Given the description of an element on the screen output the (x, y) to click on. 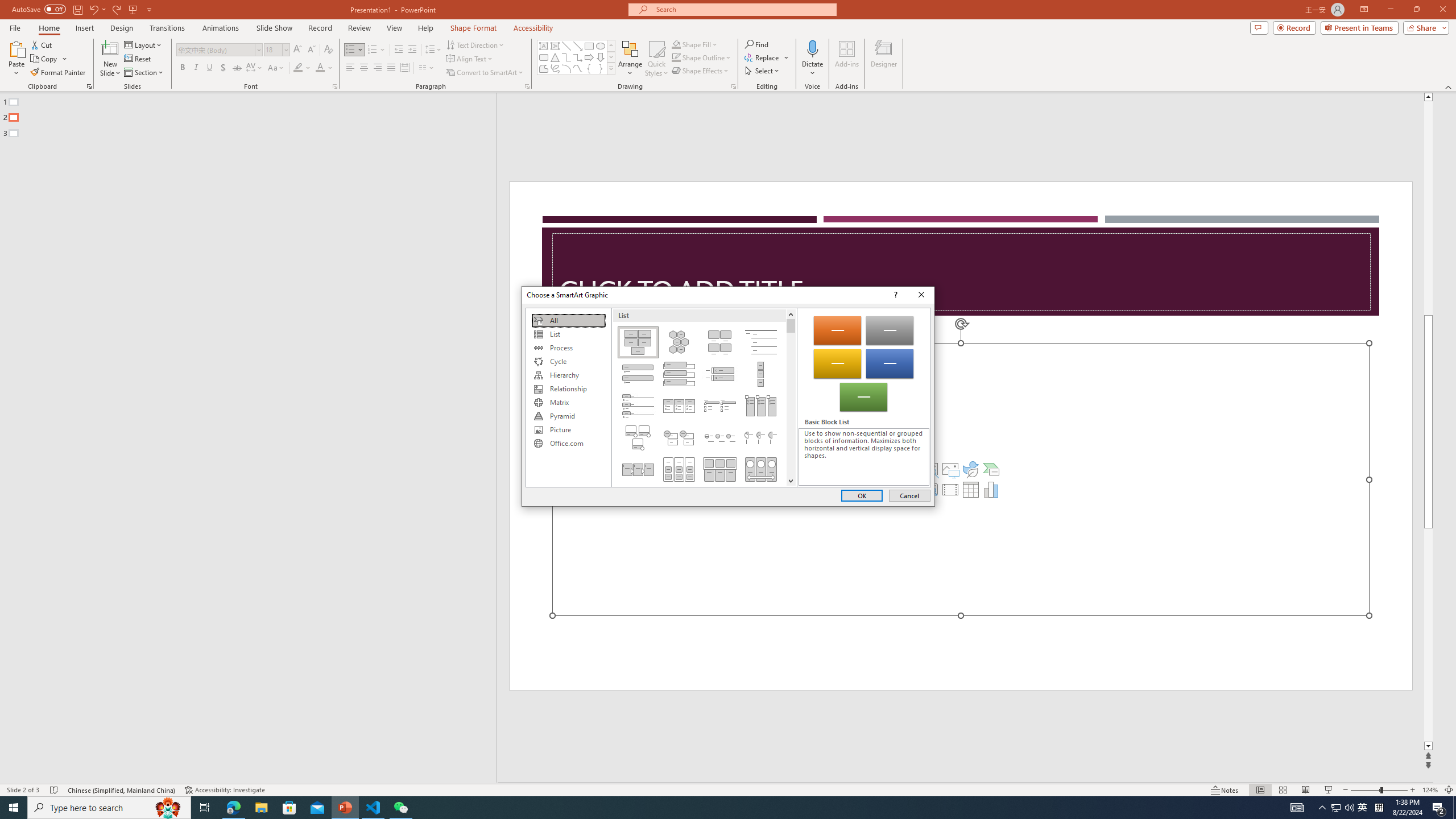
Picture Caption List (719, 342)
Relationship (568, 388)
